Given the description of an element on the screen output the (x, y) to click on. 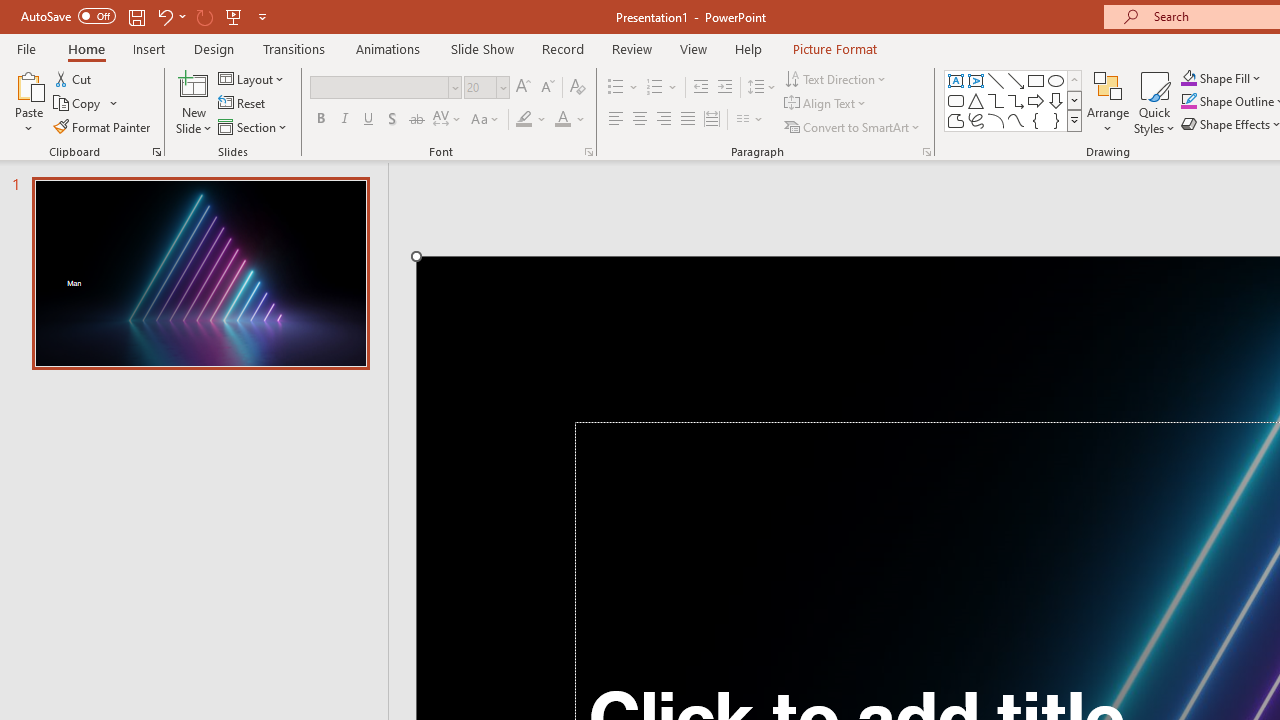
Shape Outline Blue, Accent 1 (1188, 101)
